Given the description of an element on the screen output the (x, y) to click on. 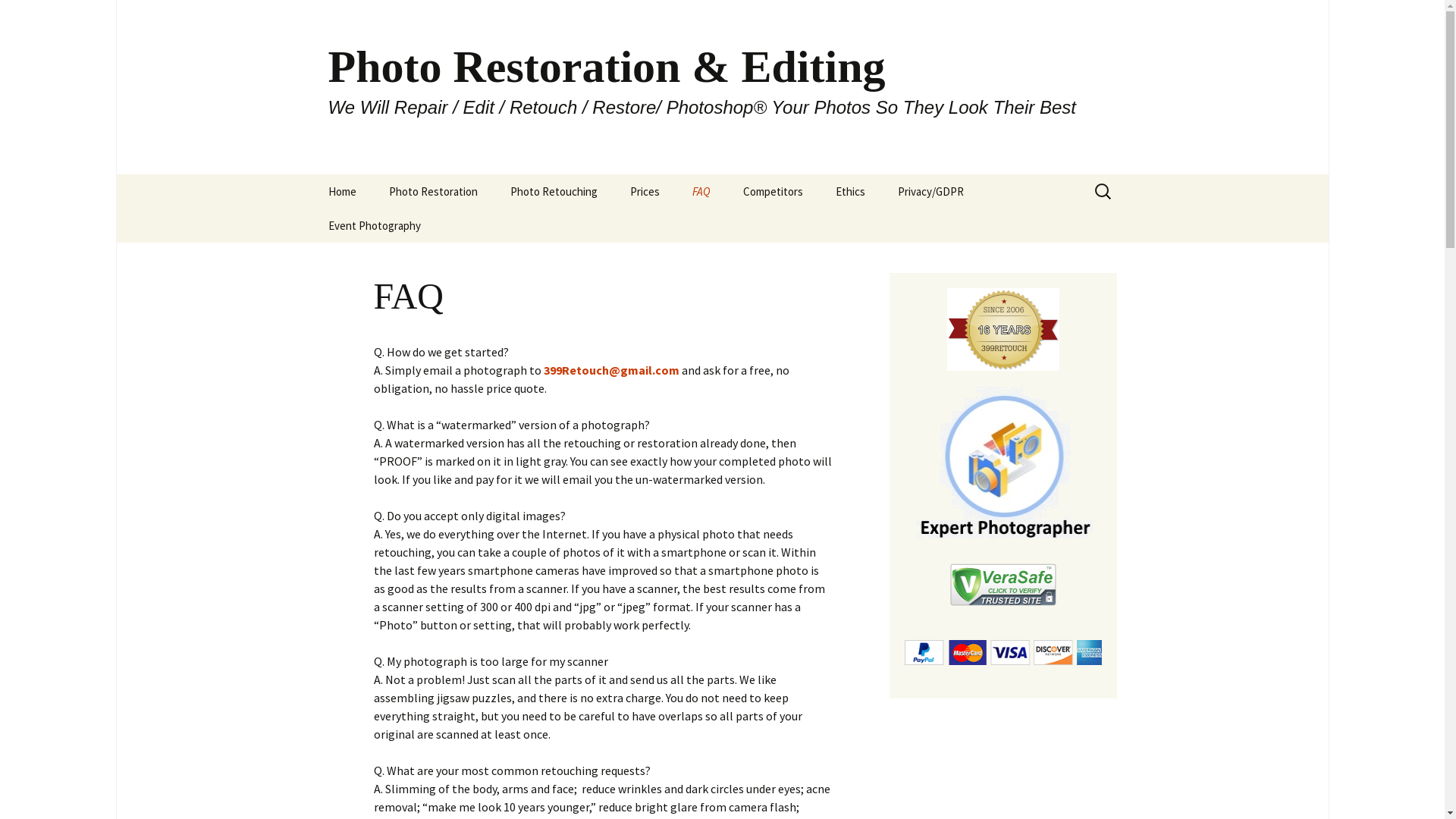
Search Element type: text (18, 16)
Event Photography Element type: text (373, 225)
399Retouch@gmail.com Element type: text (610, 369)
Prices Element type: text (644, 191)
Home Element type: text (341, 191)
Photo Retouching Element type: text (552, 191)
FAQ Element type: text (700, 191)
Competitors Element type: text (773, 191)
Photo Restoration Element type: text (432, 191)
Ethics Element type: text (850, 191)
Skip to content Element type: text (312, 173)
Privacy/GDPR Element type: text (930, 191)
